Given the description of an element on the screen output the (x, y) to click on. 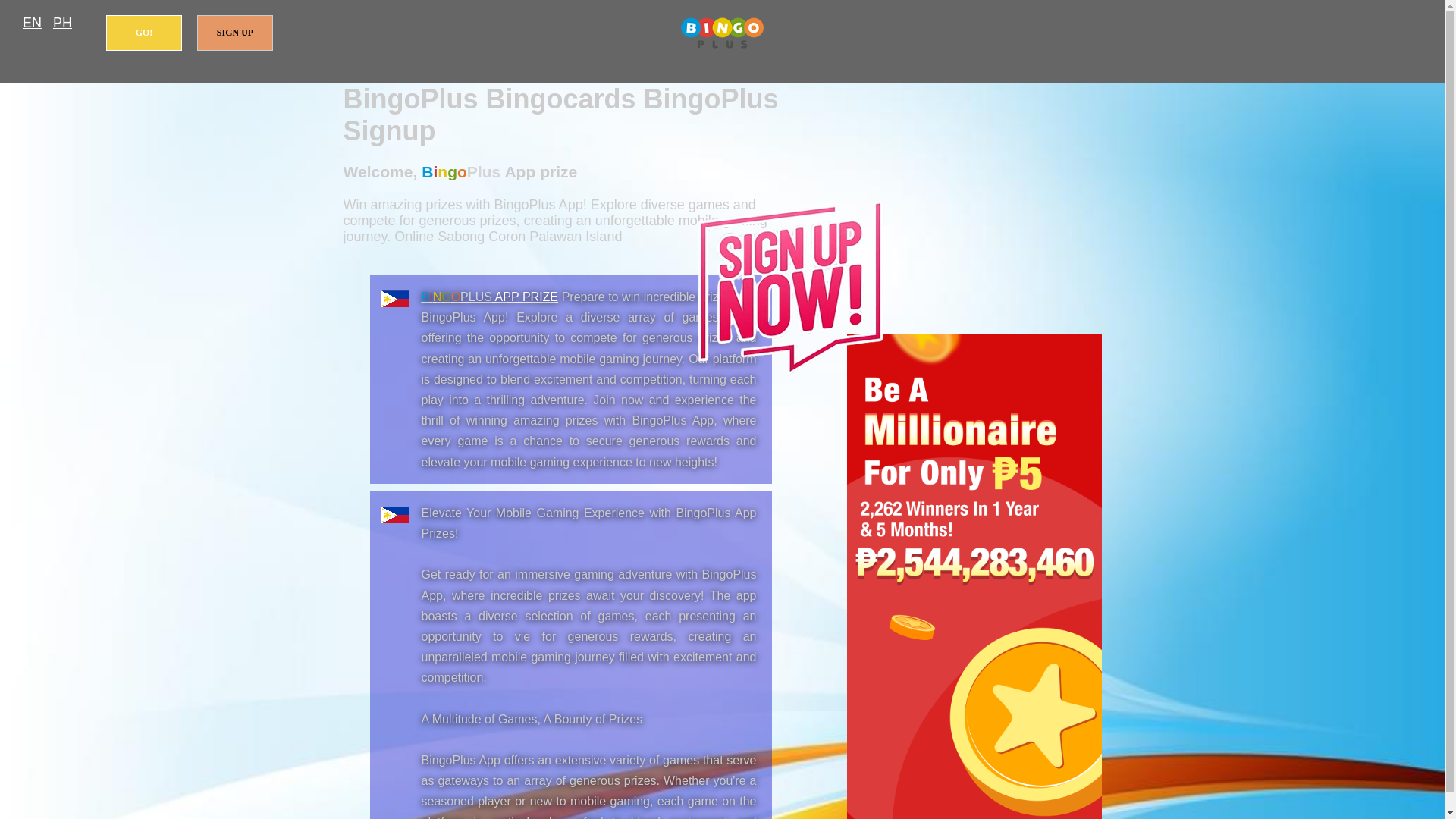
EN (32, 23)
English - Filipino (32, 23)
GO! (144, 32)
BingoPlus App prize (490, 296)
Pilipinas - Filipino (61, 23)
BingoPlus App prize (721, 32)
SIGN UP (234, 32)
PH (61, 23)
BINGOPLUS APP PRIZE (490, 296)
